Given the description of an element on the screen output the (x, y) to click on. 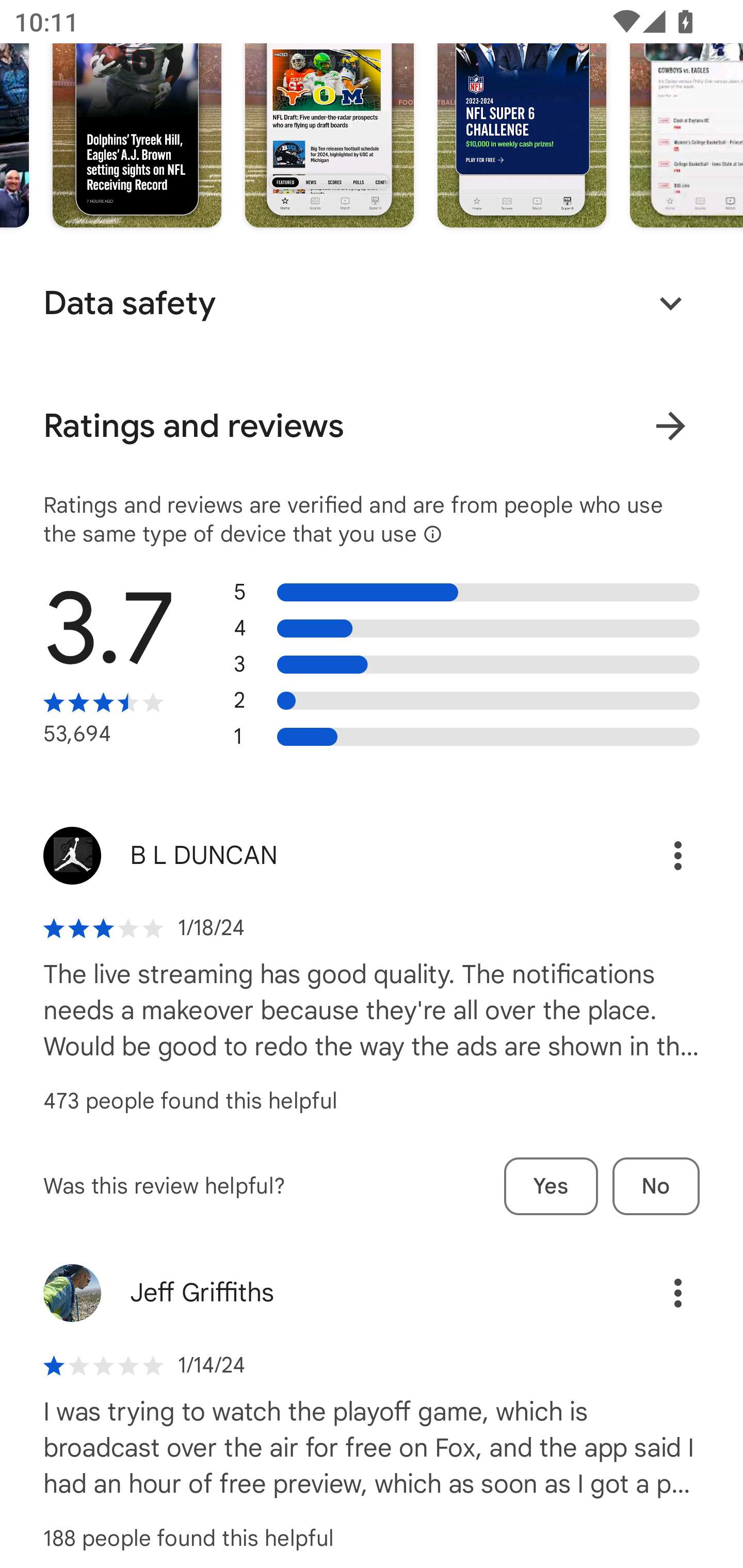
Screenshot "1" of "5" (136, 113)
Screenshot "2" of "5" (329, 113)
Screenshot "3" of "5" (521, 113)
Data safety Expand (371, 303)
Expand (670, 303)
Ratings and reviews View all ratings and reviews (371, 425)
View all ratings and reviews (670, 425)
Options (655, 855)
Yes (550, 1186)
No (655, 1186)
Options (655, 1292)
